Given the description of an element on the screen output the (x, y) to click on. 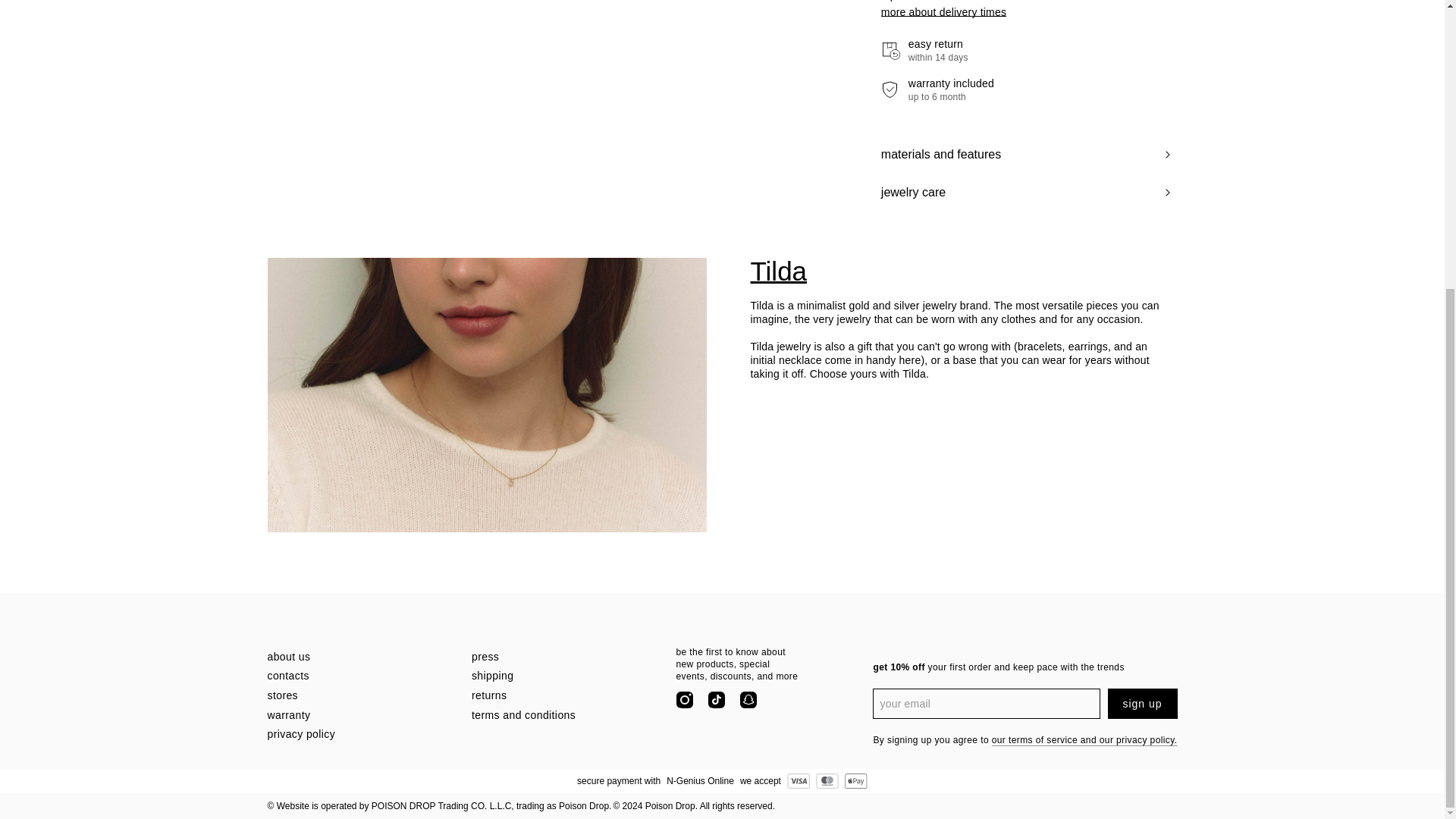
privacy policy (359, 734)
our terms of service and our privacy policy. (1084, 740)
returns (564, 695)
shipping (564, 676)
sign up (1141, 703)
contacts (359, 676)
terms and conditions (564, 715)
warranty (359, 715)
stores (359, 695)
press (564, 657)
Tilda (958, 271)
N-Genius Online (699, 780)
about us (359, 657)
